Given the description of an element on the screen output the (x, y) to click on. 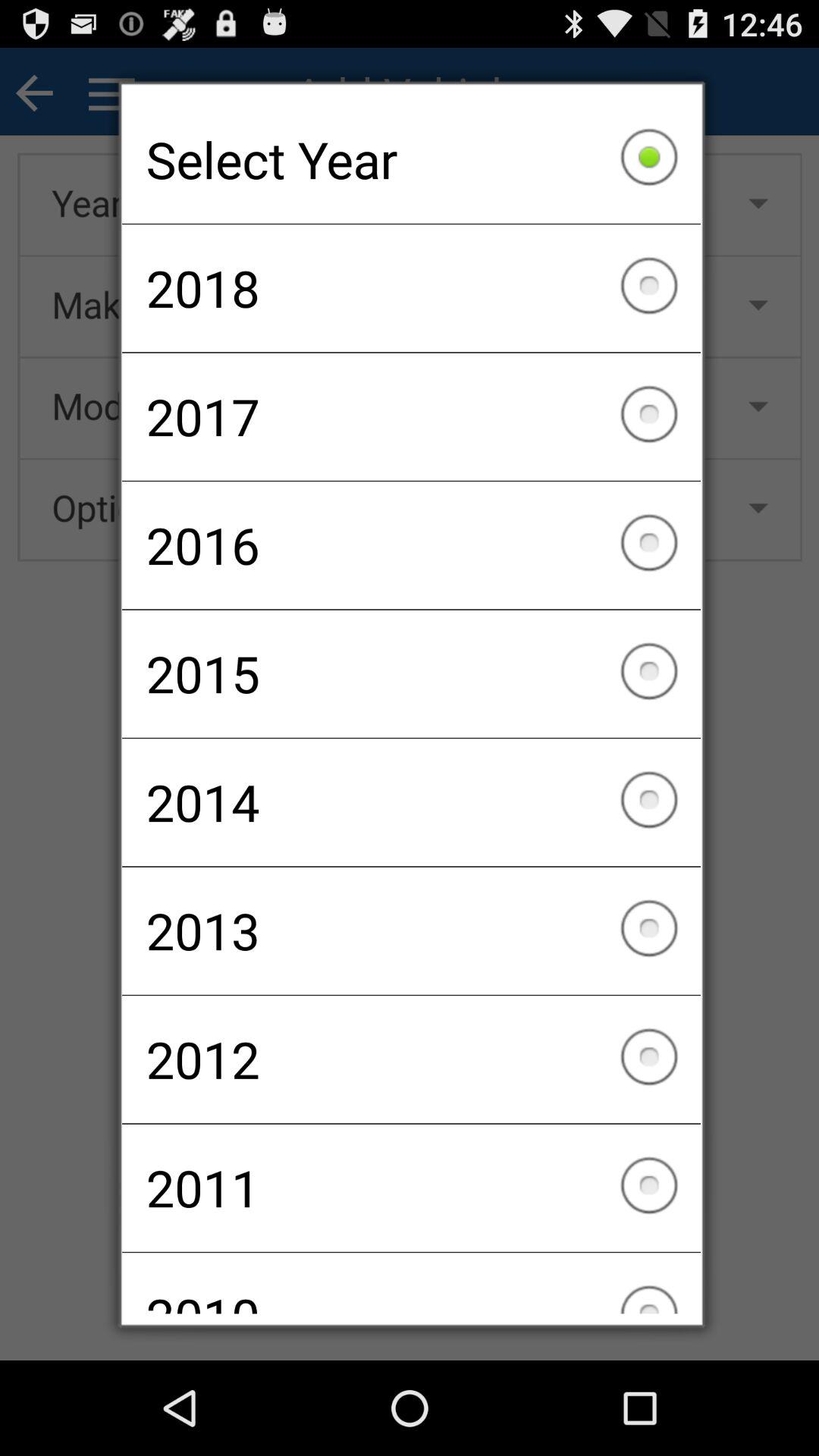
click the checkbox below the select year item (411, 288)
